Given the description of an element on the screen output the (x, y) to click on. 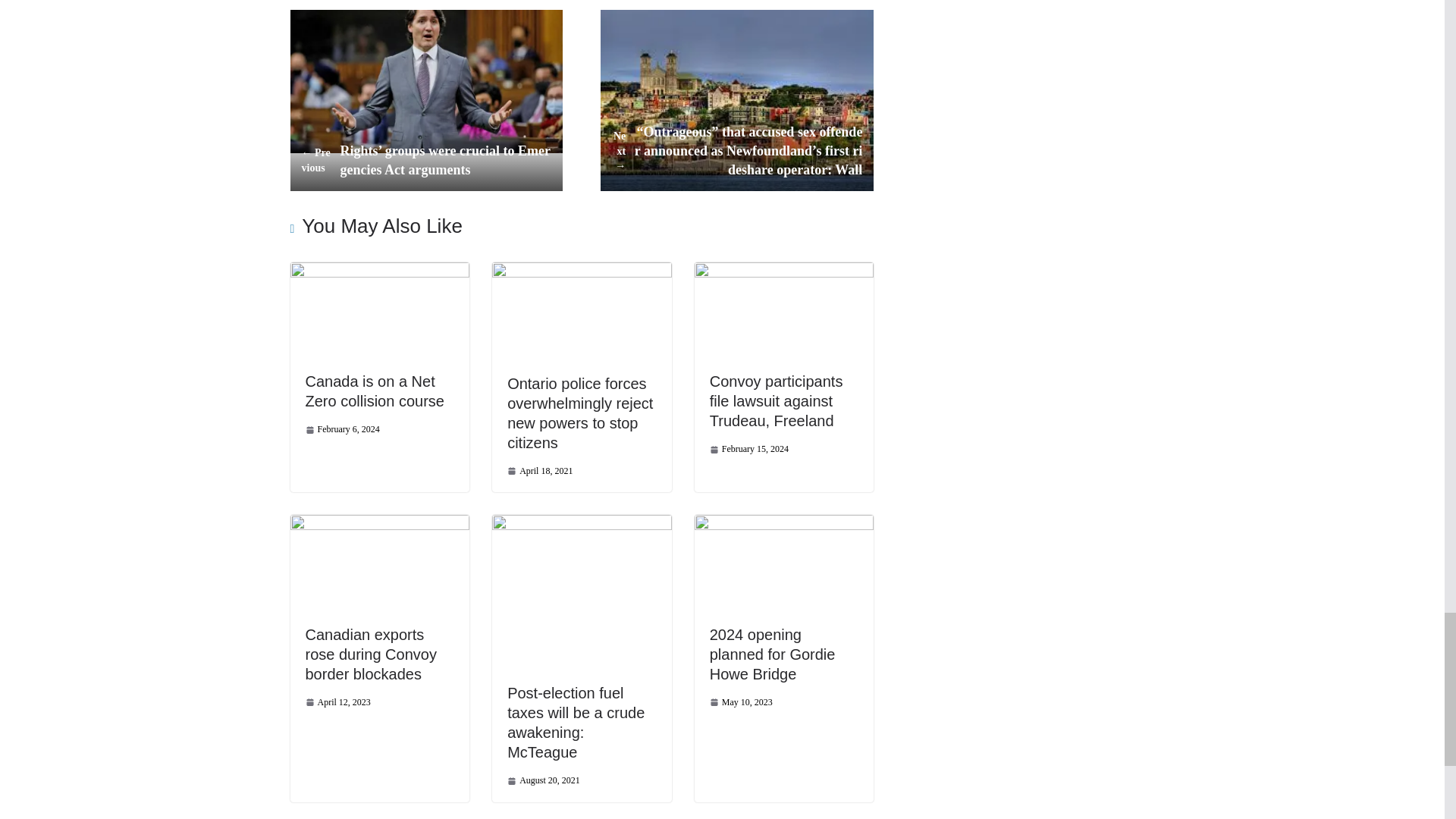
Convoy participants file lawsuit against Trudeau, Freeland (776, 401)
Canada is on a Net Zero collision course (374, 391)
February 6, 2024 (341, 429)
Convoy participants file lawsuit against Trudeau, Freeland (784, 269)
9:02 am (539, 471)
Canada is on a Net Zero collision course (378, 269)
Canada is on a Net Zero collision course (374, 391)
8:00 am (749, 449)
Convoy participants file lawsuit against Trudeau, Freeland (776, 401)
12:14 pm (341, 429)
